Given the description of an element on the screen output the (x, y) to click on. 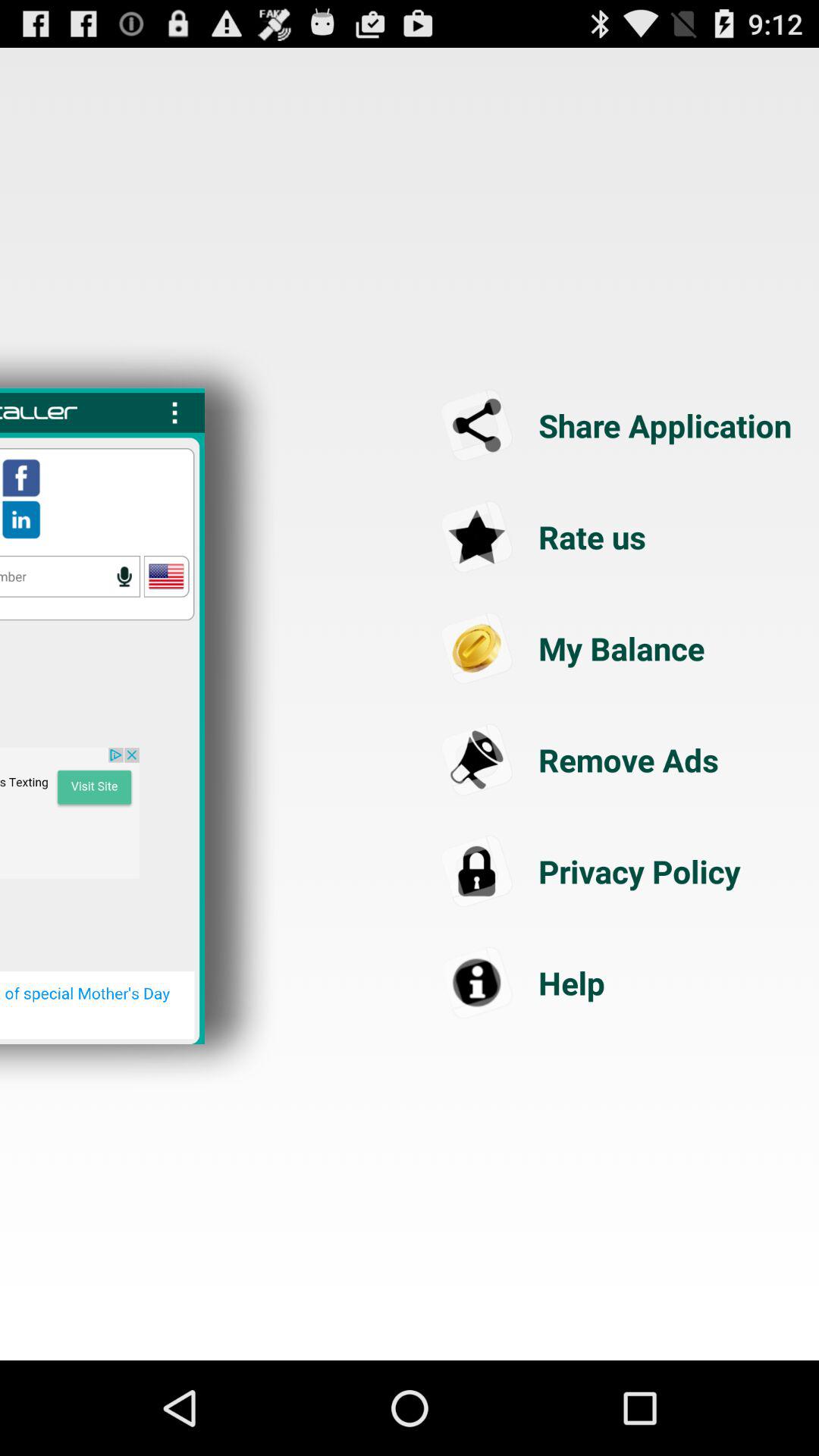
go to facebook (21, 478)
